Given the description of an element on the screen output the (x, y) to click on. 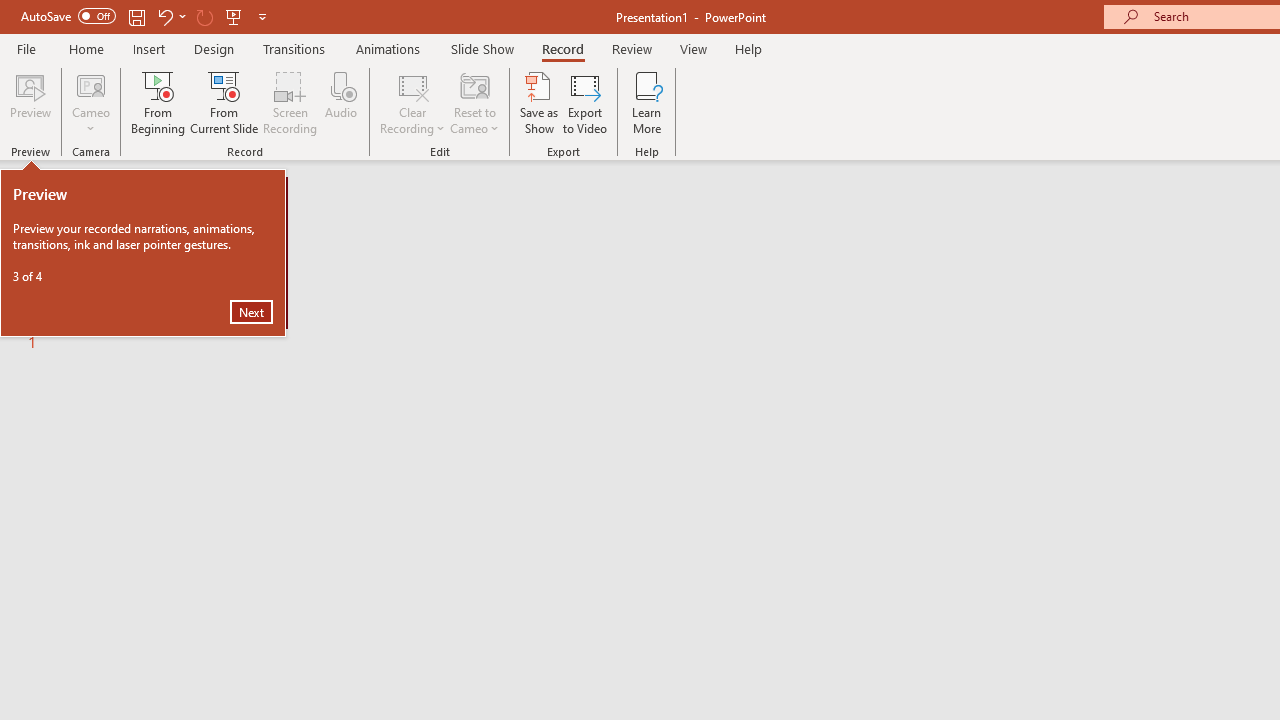
From Current Slide... (224, 102)
Audio (341, 102)
Screen Recording (290, 102)
Export to Video (585, 102)
